Given the description of an element on the screen output the (x, y) to click on. 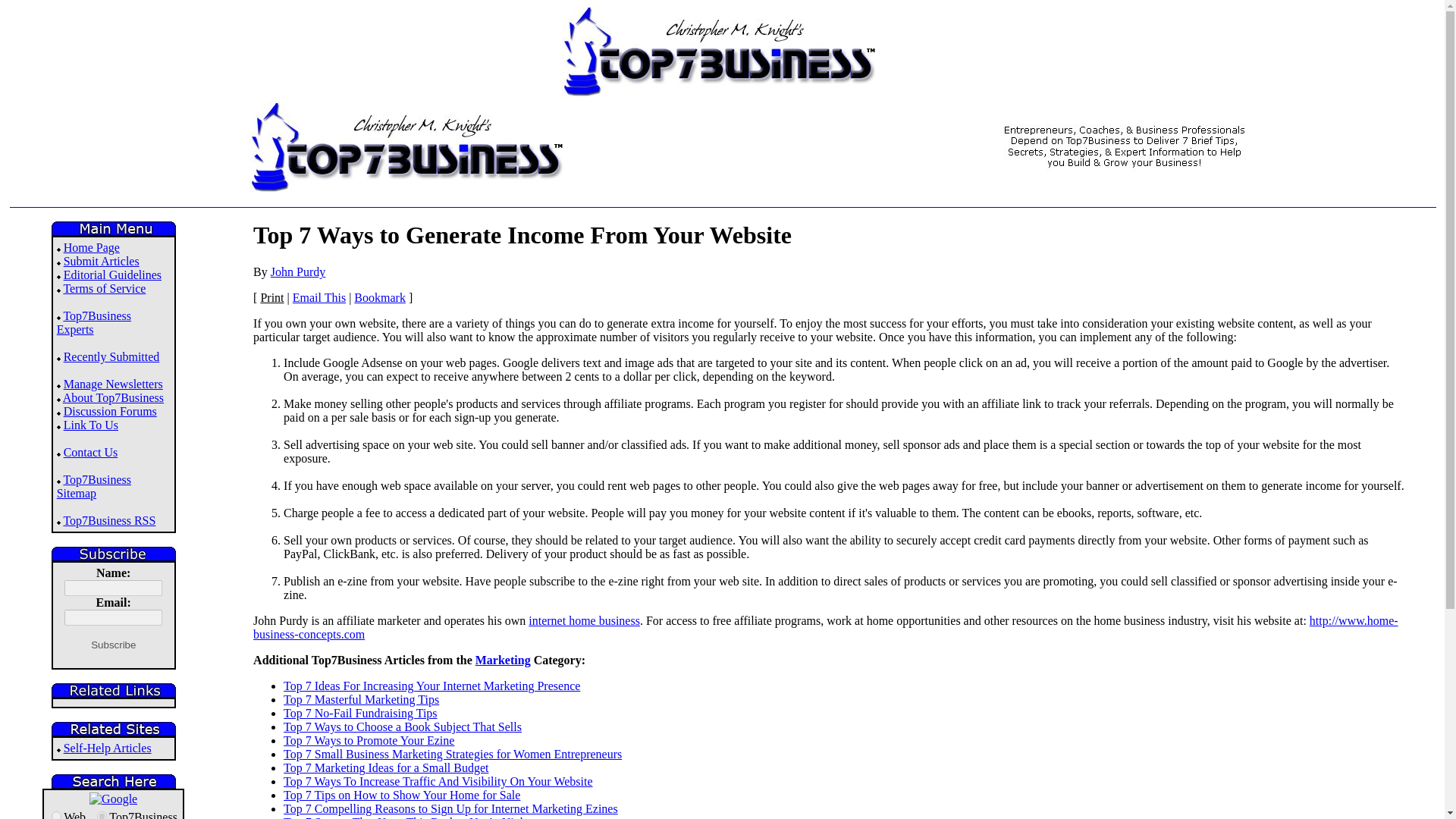
internet home business (584, 620)
Top 7 Ways to Promote Your Ezine (368, 739)
Terms of Service (103, 287)
Contact Us (90, 451)
Top 7 Marketing Ideas for a Small Budget (385, 767)
Top7Business RSS (108, 520)
Top 7 Masterful Marketing Tips (361, 698)
Bookmark (379, 297)
Submit Articles (101, 260)
Link To Us (90, 424)
Home Page (91, 246)
Subscribe (112, 645)
Discussion Forums (110, 410)
John Purdy (297, 271)
